Given the description of an element on the screen output the (x, y) to click on. 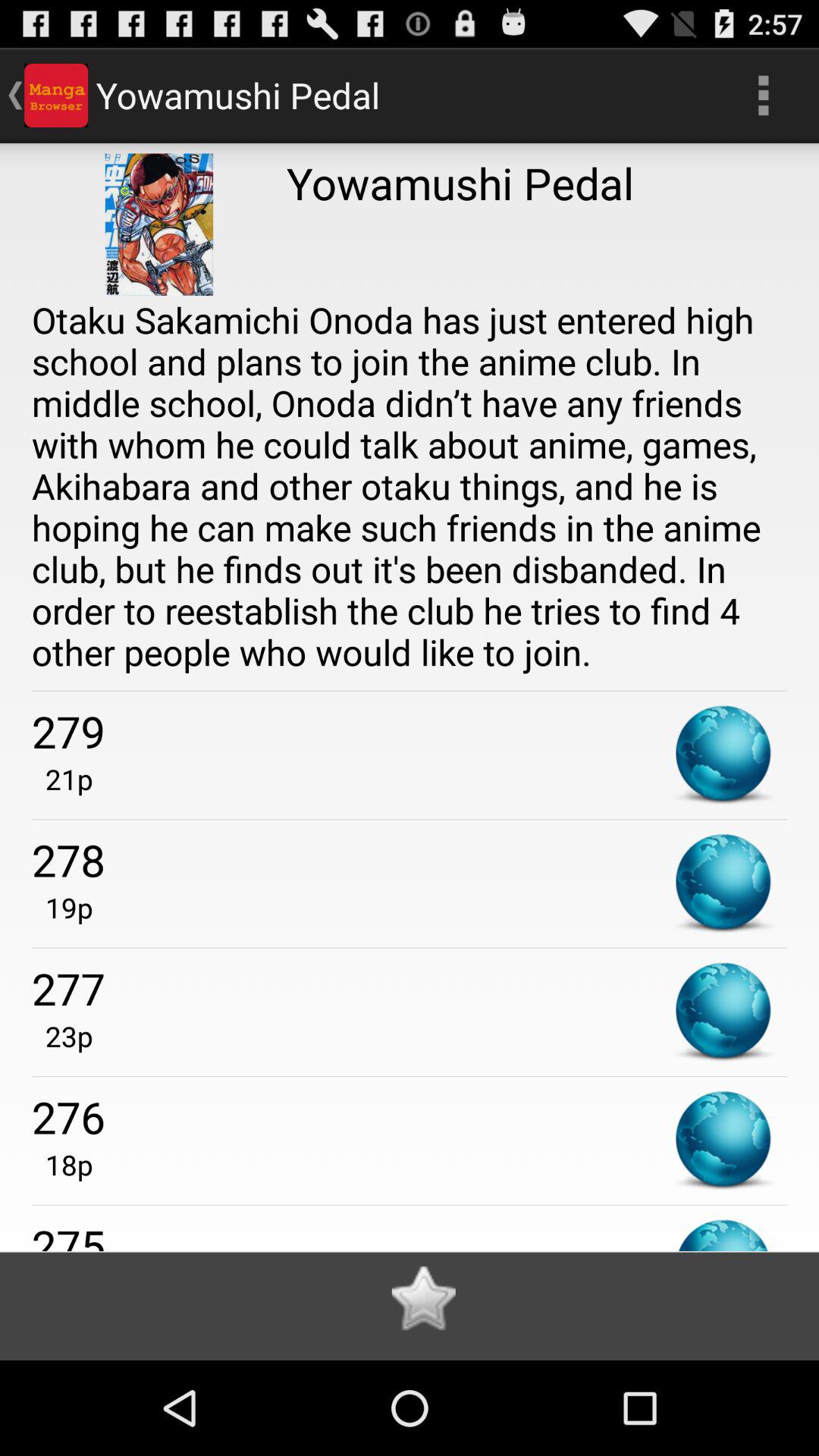
choose the app above the 279 icon (409, 485)
